Given the description of an element on the screen output the (x, y) to click on. 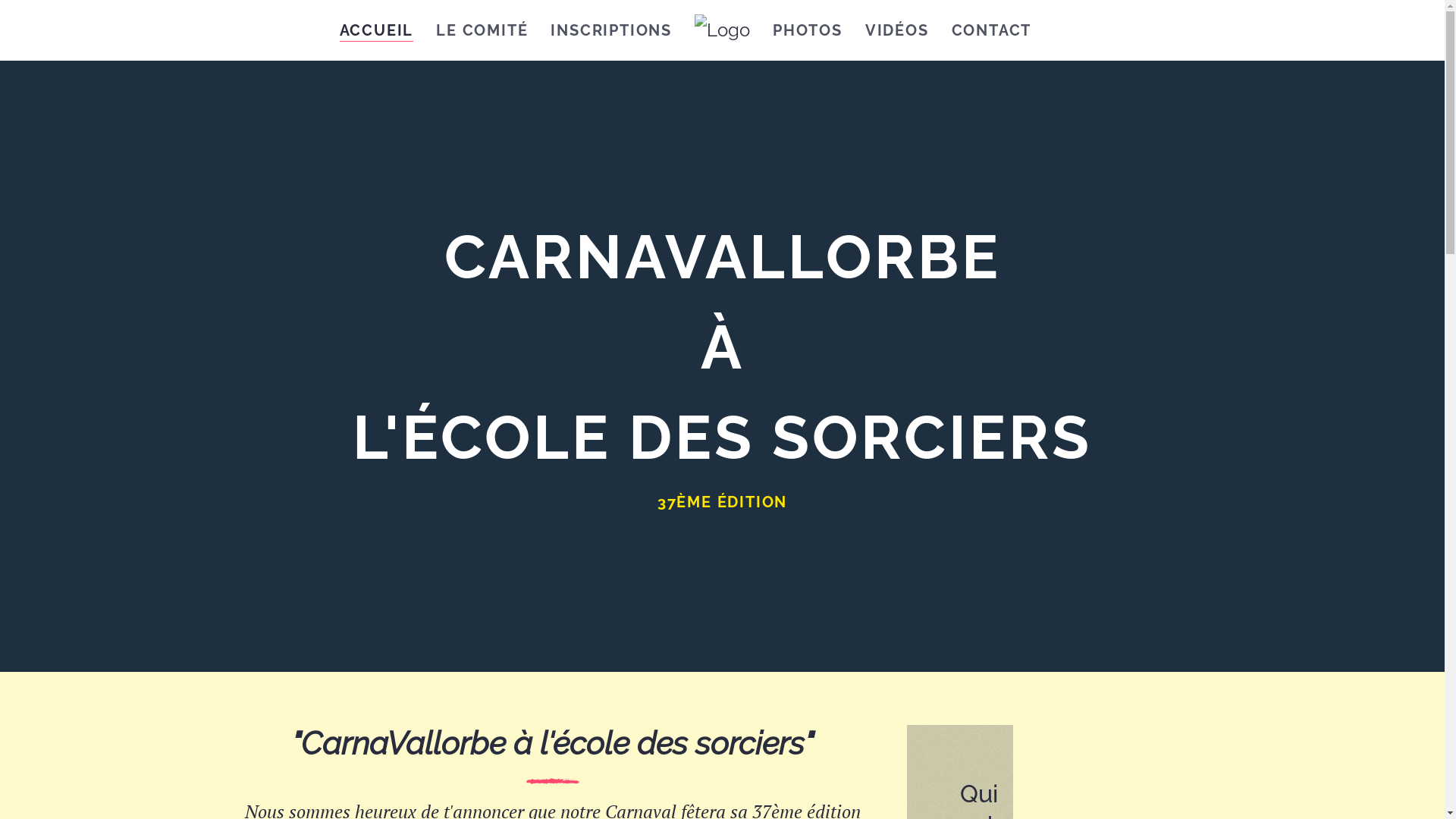
PHOTOS Element type: text (807, 30)
INSCRIPTIONS Element type: text (611, 30)
CONTACT Element type: text (991, 30)
ACCUEIL Element type: text (376, 30)
